Given the description of an element on the screen output the (x, y) to click on. 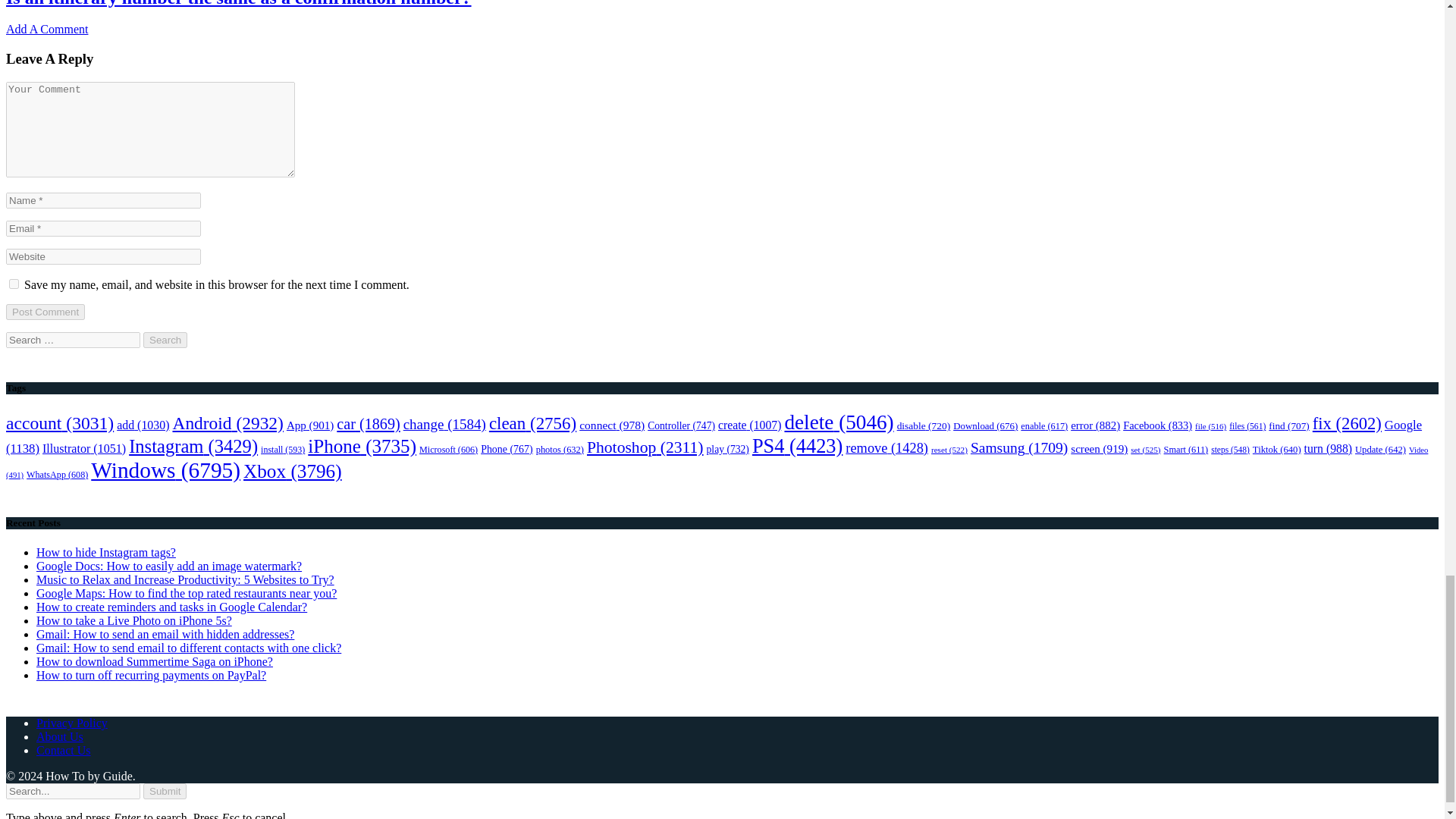
Search (164, 340)
yes (13, 284)
Post Comment (44, 311)
Search (164, 340)
